Given the description of an element on the screen output the (x, y) to click on. 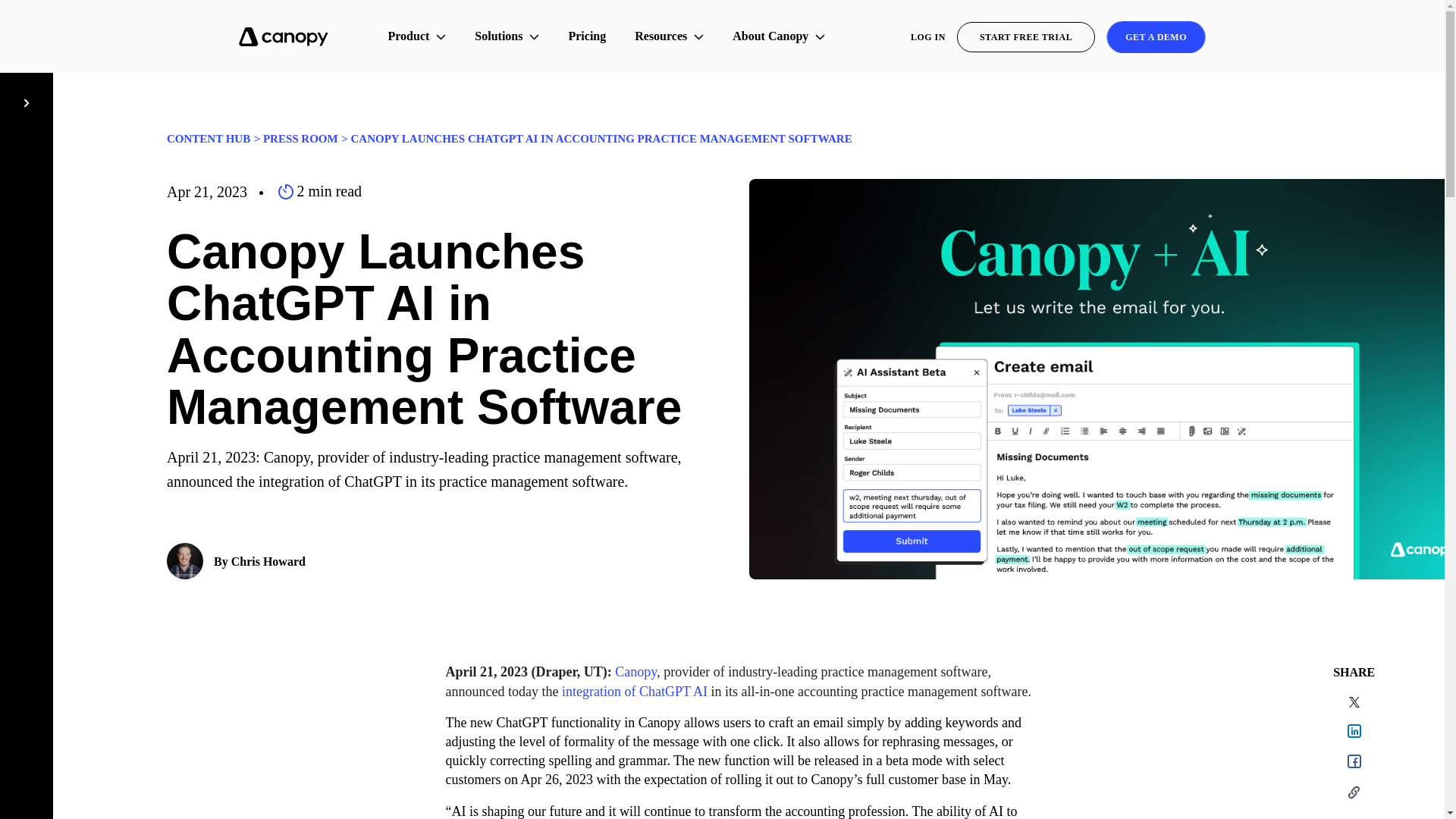
Resources (669, 35)
Solutions (506, 35)
About Canopy (778, 35)
Copy the article link (1353, 795)
Product (416, 35)
Pricing (586, 35)
